Given the description of an element on the screen output the (x, y) to click on. 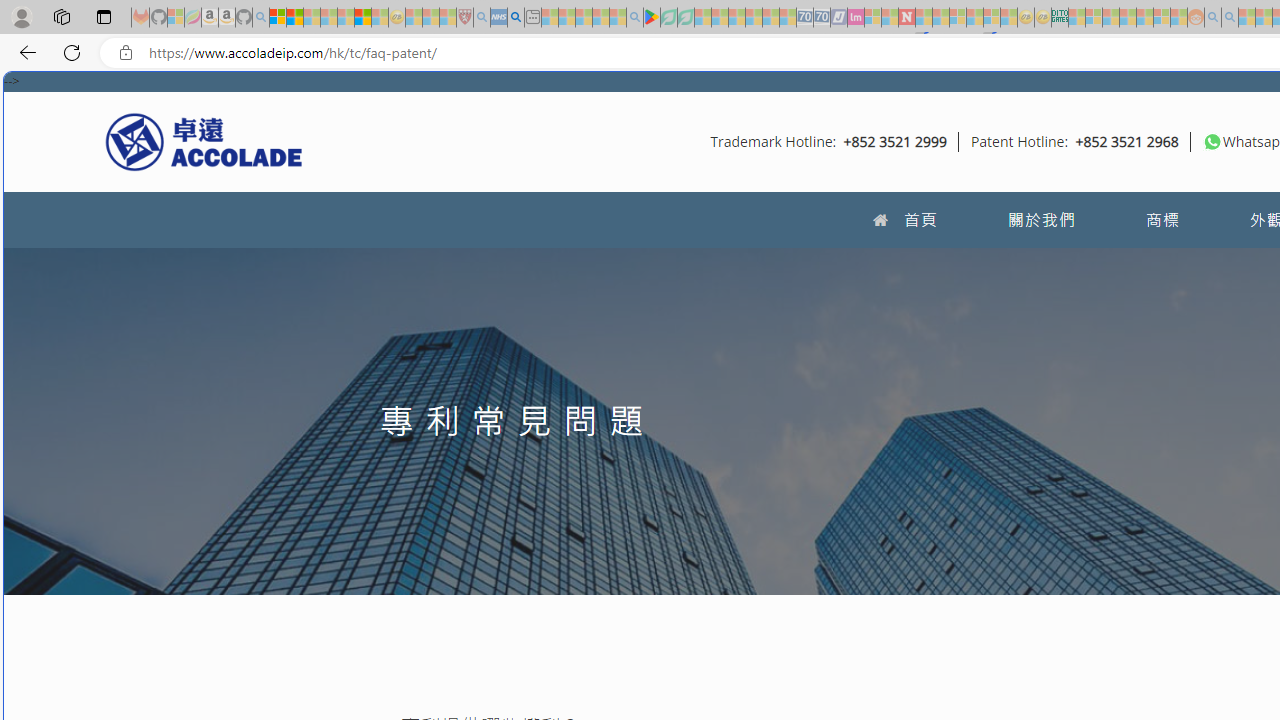
Robert H. Shmerling, MD - Harvard Health - Sleeping (465, 17)
MSNBC - MSN - Sleeping (1076, 17)
Recipes - MSN - Sleeping (413, 17)
Utah sues federal government - Search - Sleeping (1229, 17)
google - Search - Sleeping (634, 17)
utah sues federal government - Search (515, 17)
Expert Portfolios - Sleeping (1128, 17)
